Given the description of an element on the screen output the (x, y) to click on. 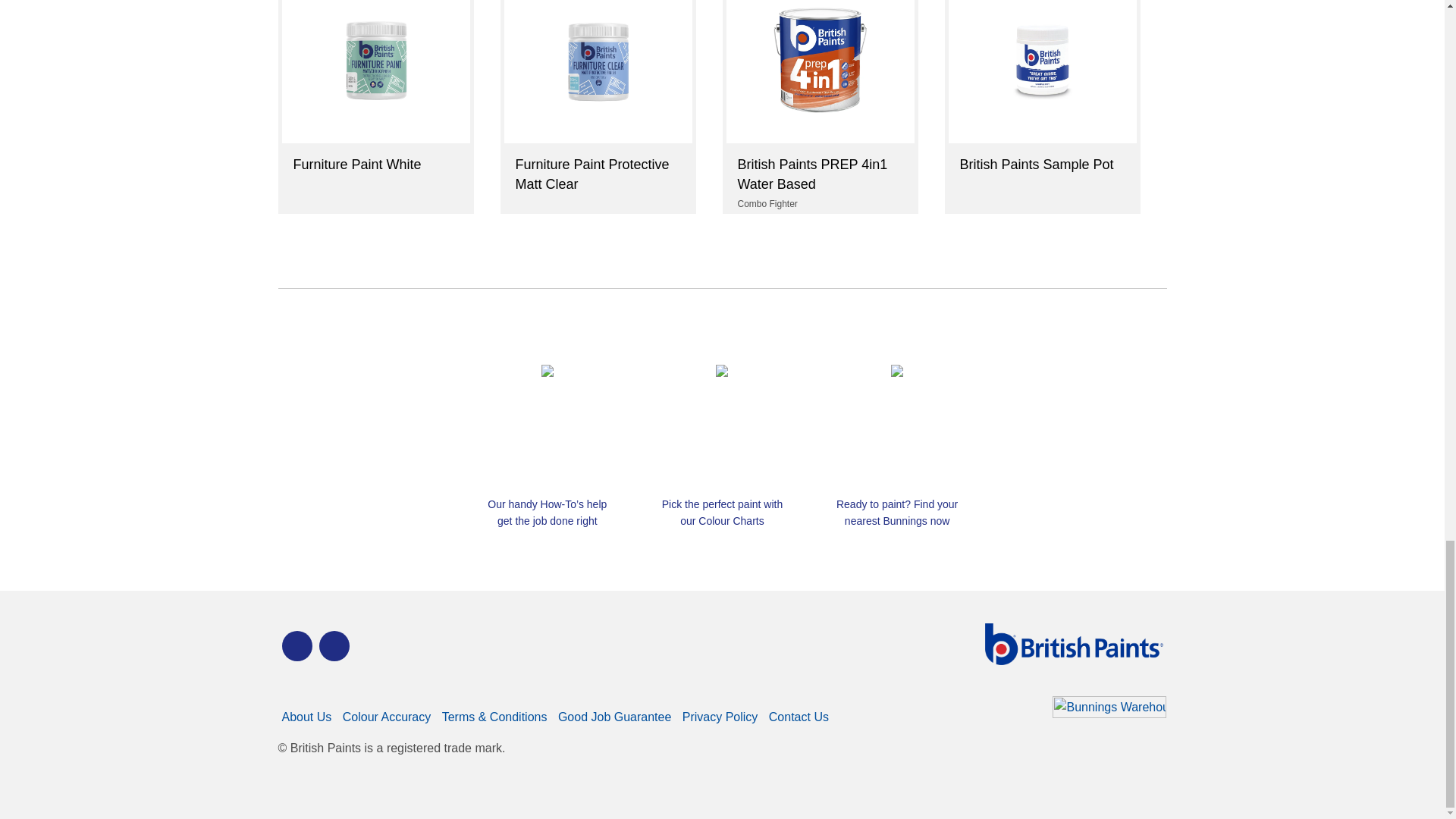
British Paints (333, 645)
British Paints Facebook (297, 645)
Bunnings Warehouse (1109, 719)
British Paints (1072, 660)
Bunnings Warehouse (1109, 713)
